Given the description of an element on the screen output the (x, y) to click on. 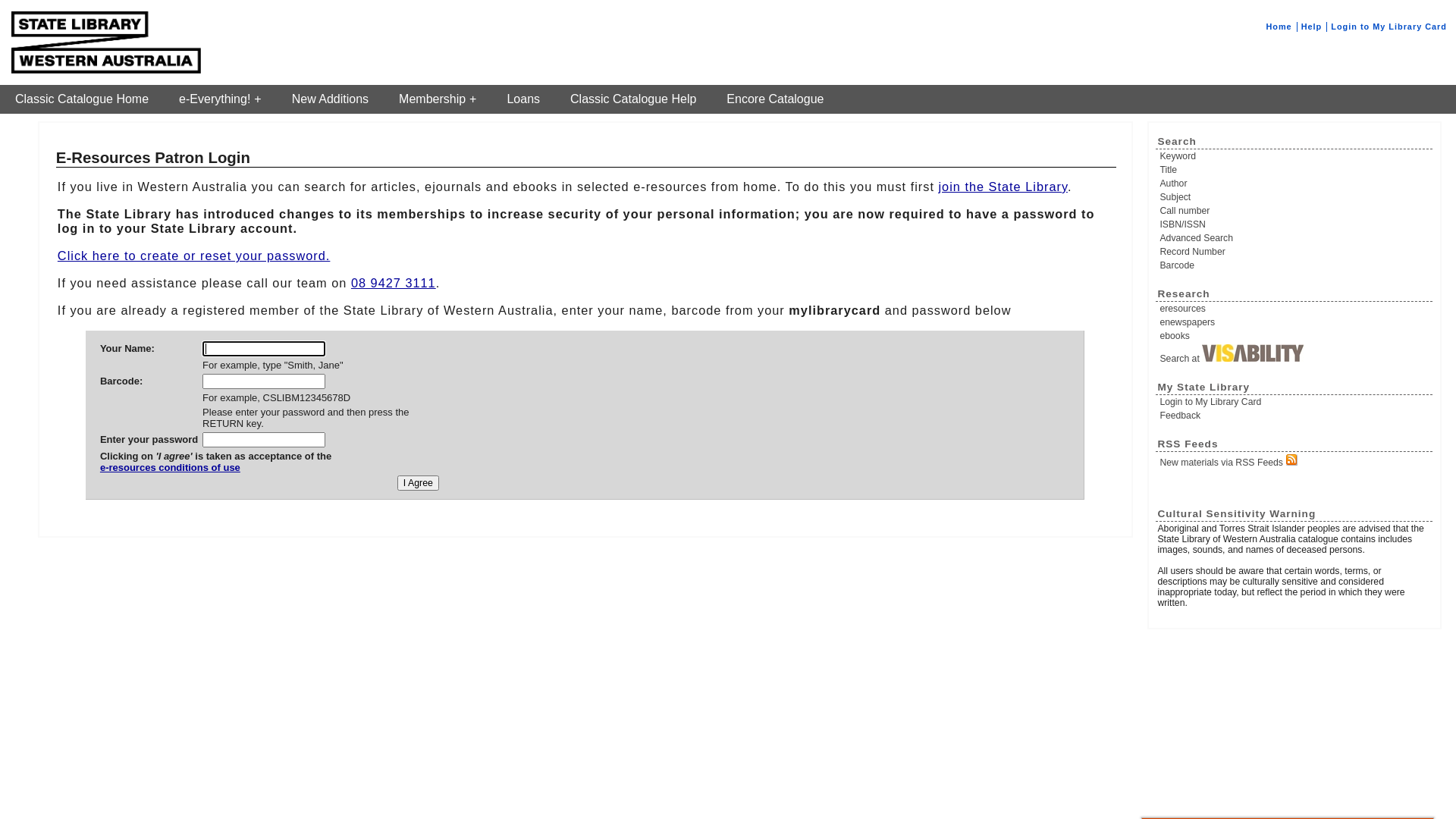
Click here to create or reset your password. Element type: text (193, 255)
Login to My Library Card Element type: text (1388, 26)
e-Everything! Element type: text (219, 98)
Keyword Element type: text (1294, 155)
New materials via RSS Feeds Element type: text (1294, 460)
join the State Library Element type: text (1002, 186)
eresources Element type: text (1294, 308)
Search at Element type: text (1294, 354)
Record Number Element type: text (1294, 251)
Feedback Element type: text (1294, 415)
enewspapers Element type: text (1294, 321)
Membership Element type: text (437, 98)
ISBN/ISSN Element type: text (1294, 224)
Home Element type: text (1278, 26)
Title Element type: text (1294, 169)
Call number Element type: text (1294, 210)
Subject Element type: text (1294, 196)
Loans Element type: text (523, 98)
Encore Catalogue Element type: text (774, 98)
Advanced Search Element type: text (1294, 237)
08 9427 3111 Element type: text (393, 282)
I Agree Element type: text (418, 482)
New Additions Element type: text (329, 98)
Login to My Library Card Element type: text (1294, 401)
Barcode Element type: text (1294, 265)
Help Element type: text (1311, 26)
Classic Catalogue Home Element type: text (81, 98)
Classic Catalogue Help Element type: text (633, 98)
e-resources conditions of use Element type: text (215, 472)
Author Element type: text (1294, 183)
ebooks Element type: text (1294, 335)
